Given the description of an element on the screen output the (x, y) to click on. 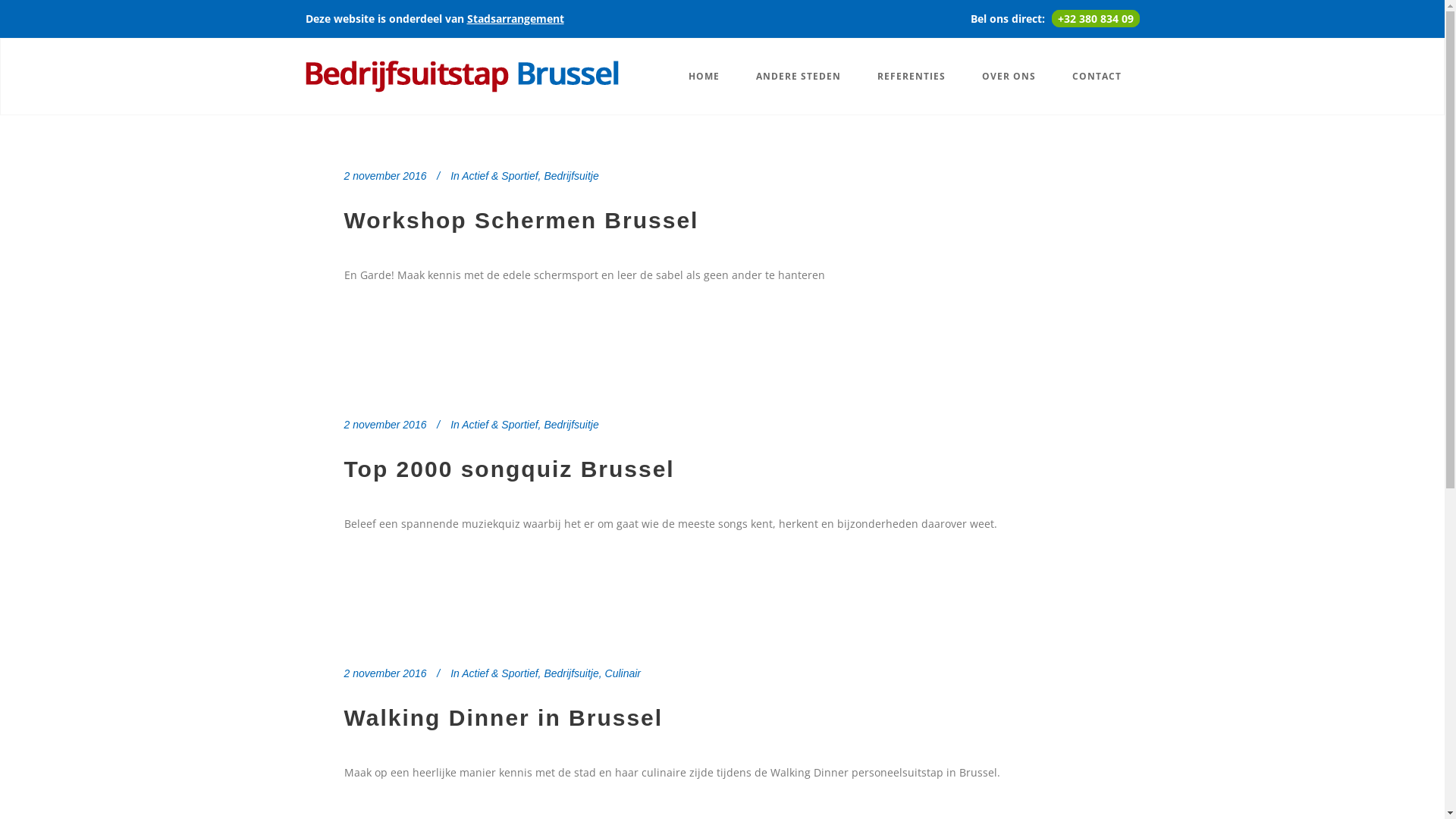
CONTACT Element type: text (1096, 76)
Culinair Element type: text (622, 673)
OVER ONS Element type: text (1008, 76)
Actief & Sportief Element type: text (499, 673)
ANDERE STEDEN Element type: text (797, 76)
Actief & Sportief Element type: text (499, 175)
HOME Element type: text (703, 76)
Stadsarrangement Element type: text (515, 18)
+32 380 834 09 Element type: text (1095, 18)
Workshop Schermen Brussel Element type: text (521, 219)
Top 2000 songquiz Brussel Element type: text (509, 468)
Actief & Sportief Element type: text (499, 424)
Bedrijfsuitje Element type: text (570, 175)
Walking Dinner in Brussel Element type: text (503, 717)
REFERENTIES Element type: text (910, 76)
Bedrijfsuitje Element type: text (570, 424)
Bedrijfsuitje Element type: text (570, 673)
